Given the description of an element on the screen output the (x, y) to click on. 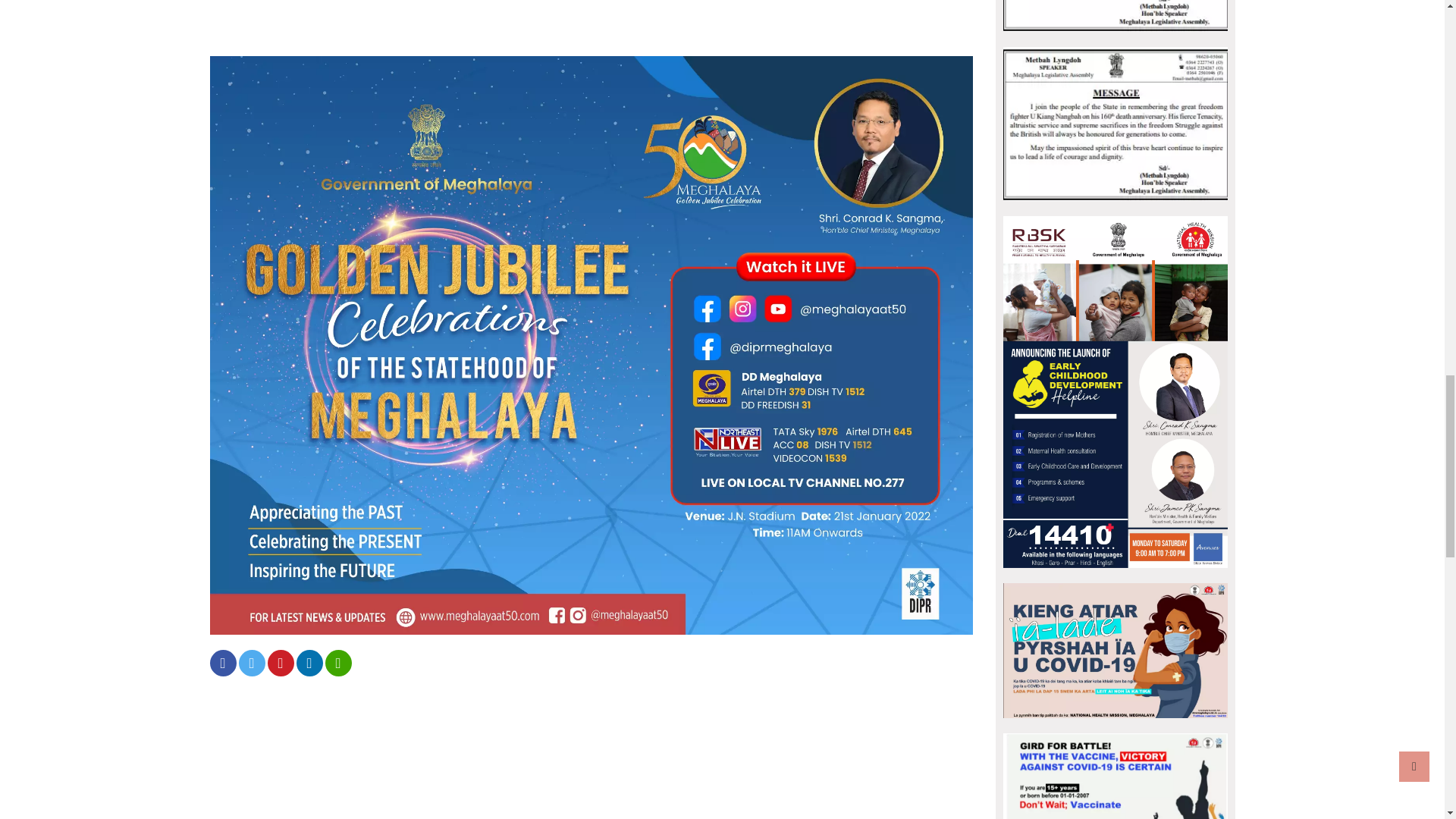
YouTube video player (590, 10)
